Given the description of an element on the screen output the (x, y) to click on. 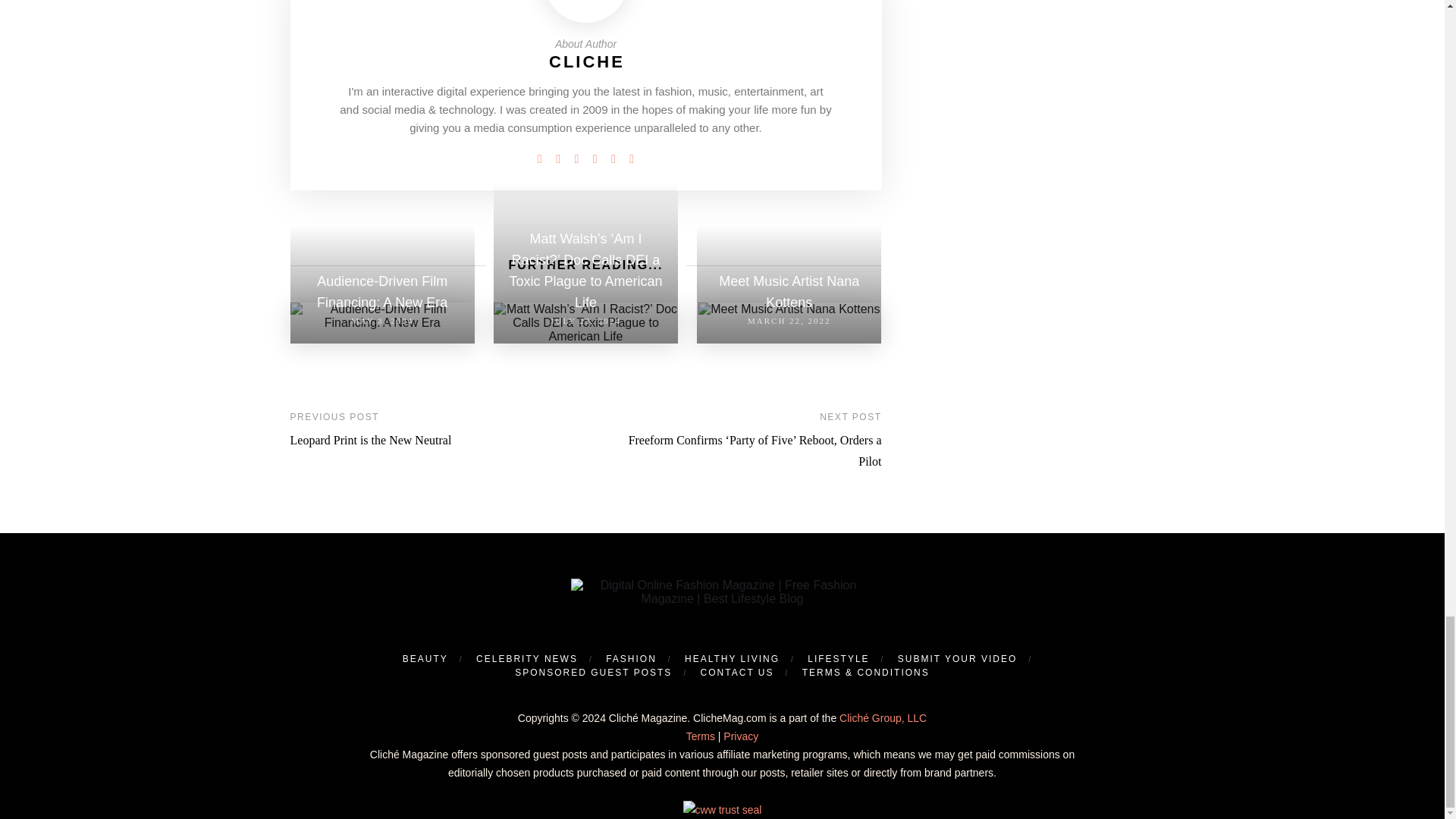
Audience-Driven Film Financing: A New Era (381, 316)
Meet Music Artist Nana Kottens (788, 309)
Posts by Cliche (586, 61)
